Given the description of an element on the screen output the (x, y) to click on. 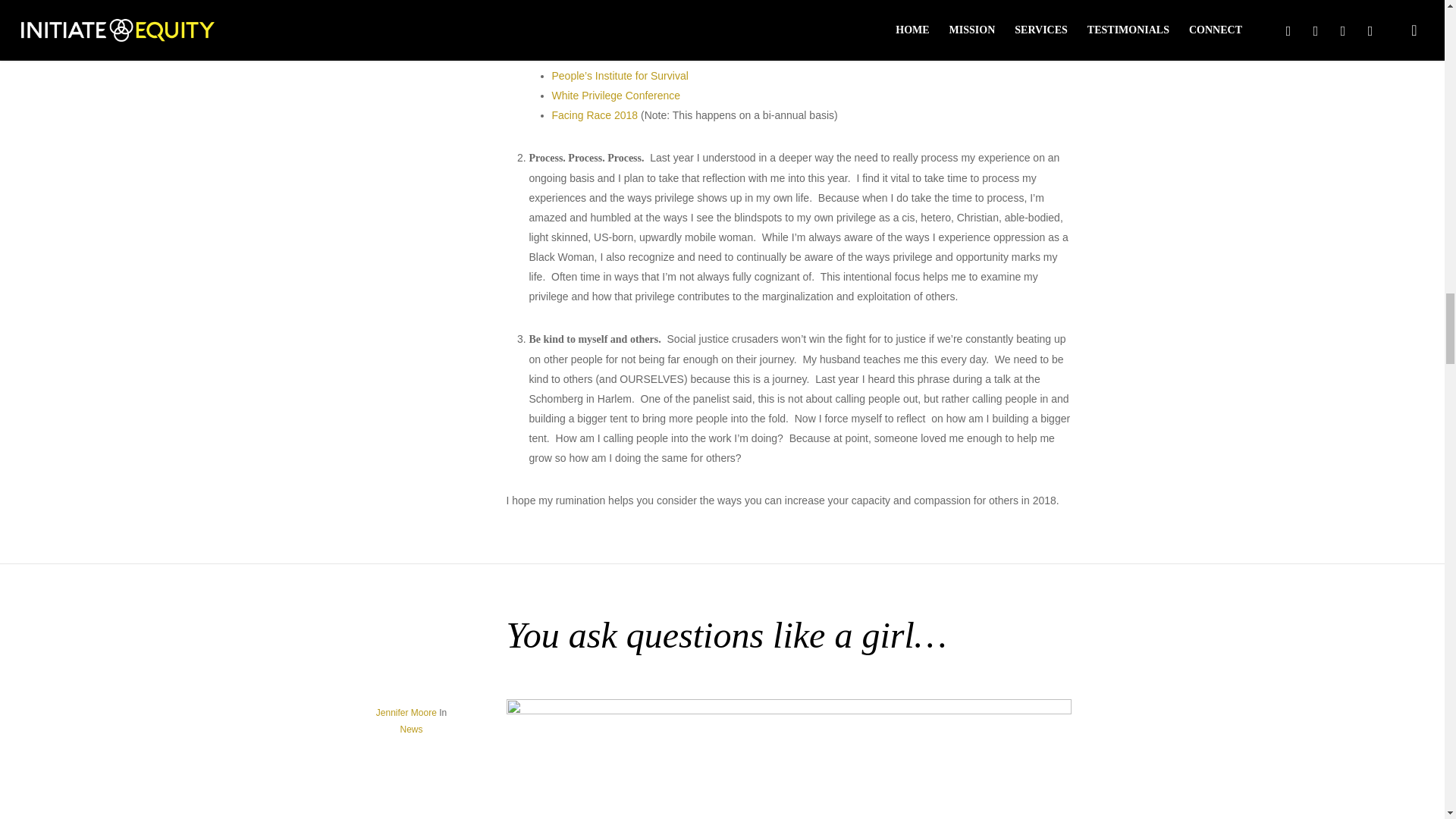
Facing Race 2018 (595, 114)
News (410, 728)
Jennifer Moore (405, 712)
White Privilege Conference (616, 95)
Posts by Jennifer Moore (405, 712)
